Given the description of an element on the screen output the (x, y) to click on. 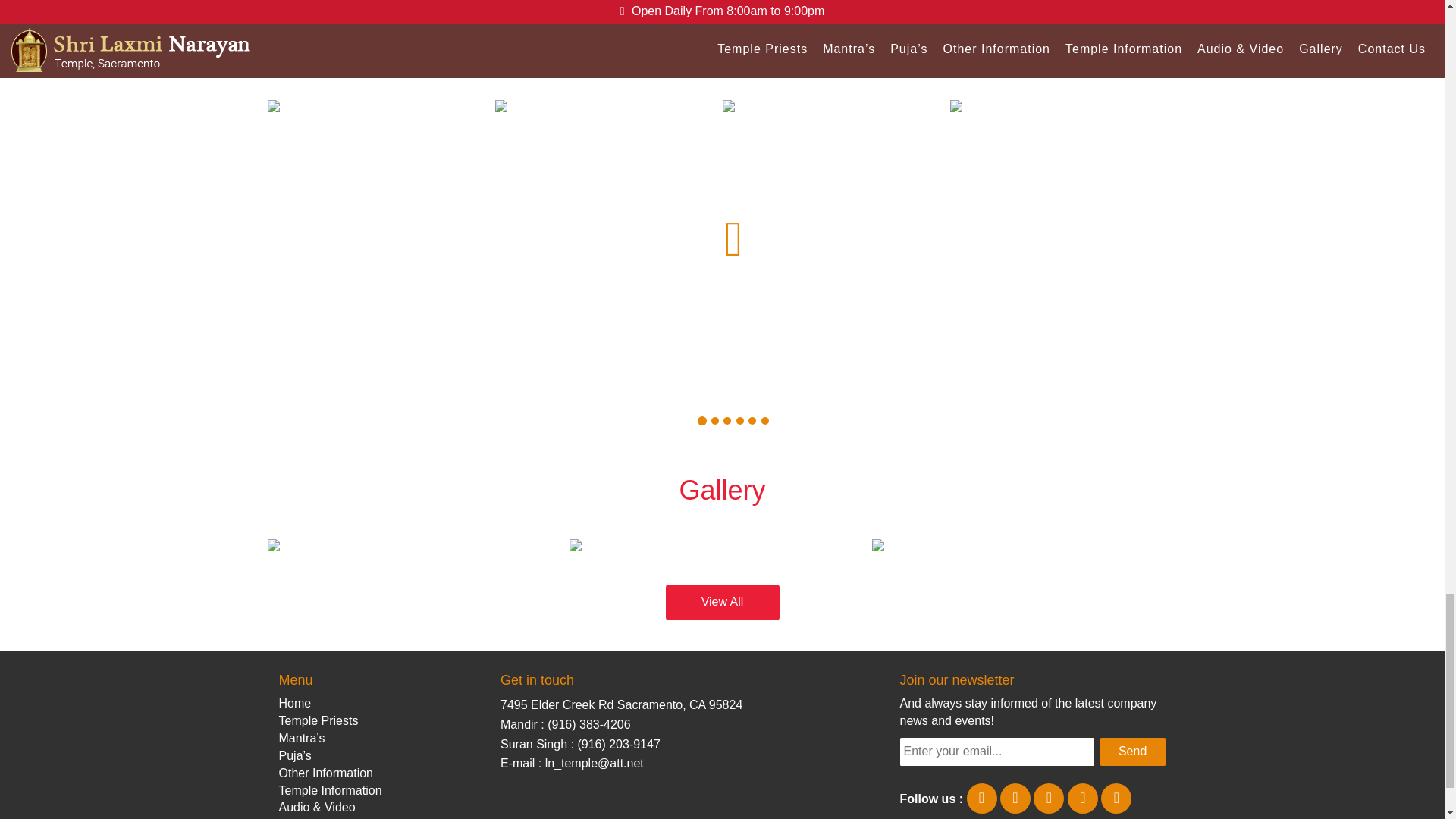
Google Plus (1115, 798)
Twitter (1015, 798)
Linkedin (1048, 798)
Send (1132, 751)
Pinterest (1082, 798)
View All (722, 601)
Facebook (980, 798)
